Given the description of an element on the screen output the (x, y) to click on. 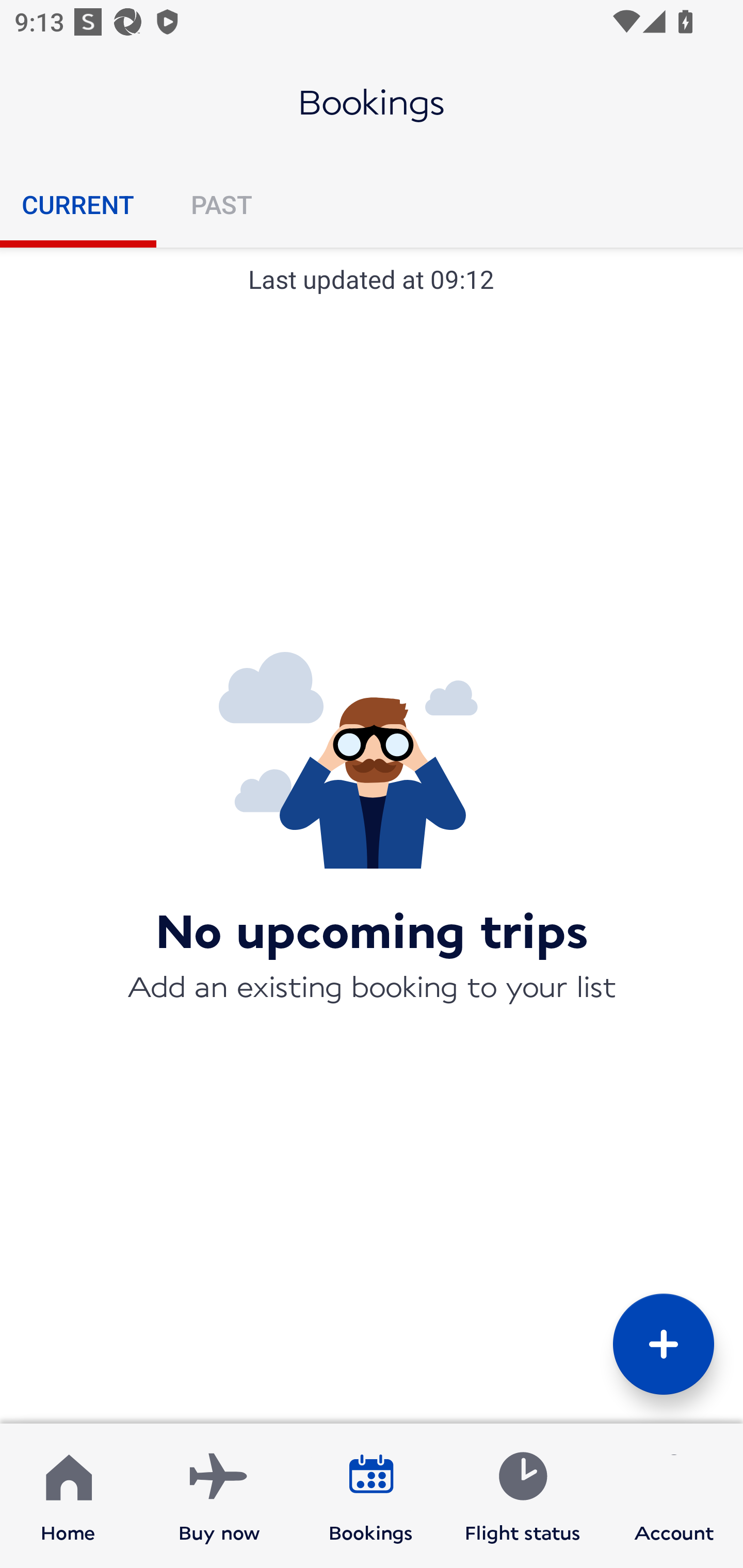
PAST (221, 204)
Home (68, 1495)
Buy now (219, 1495)
Flight status (522, 1495)
Account (674, 1495)
